Given the description of an element on the screen output the (x, y) to click on. 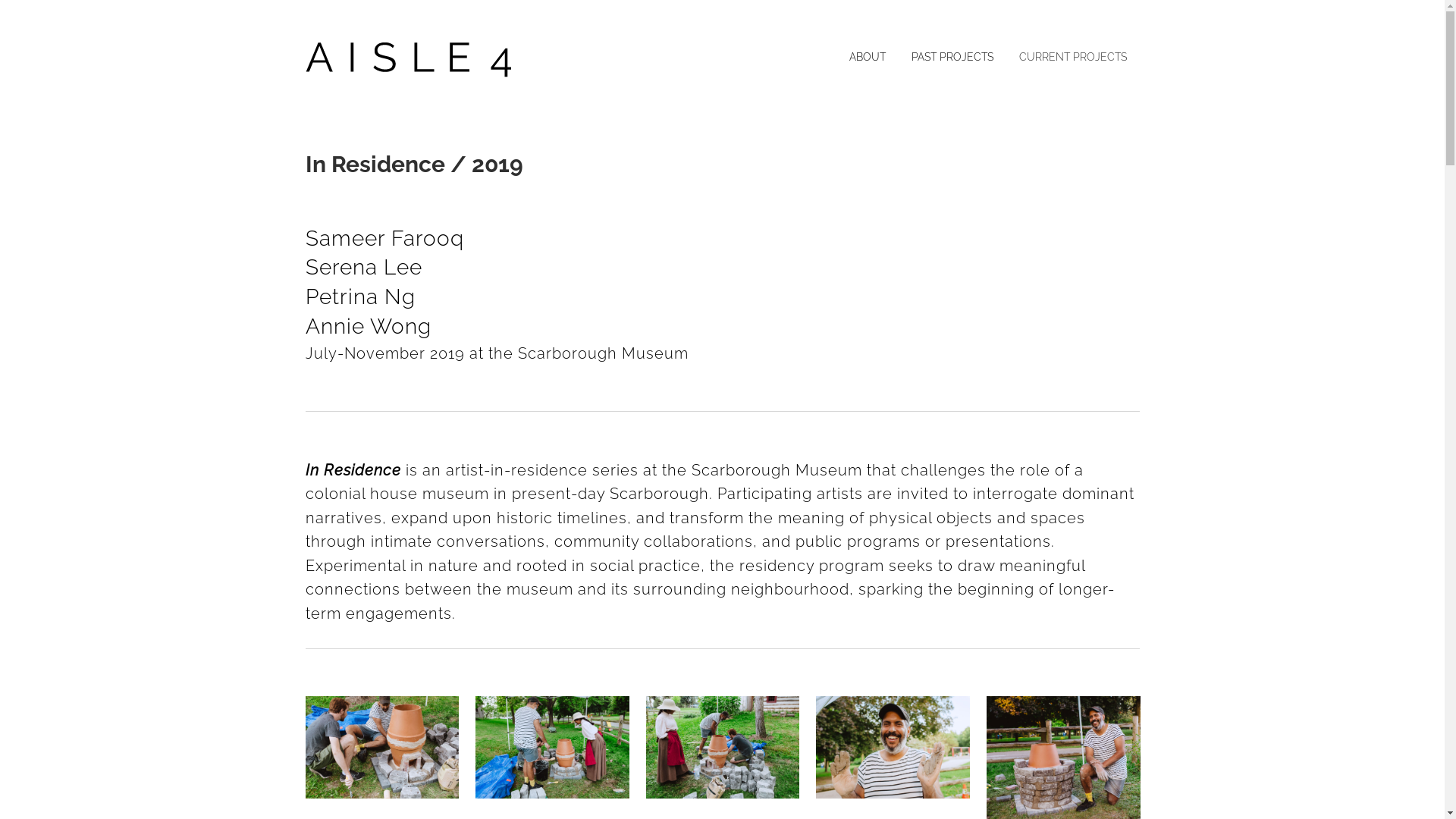
CURRENT PROJECTS Element type: text (1072, 56)
PAST PROJECTS Element type: text (951, 56)
ABOUT Element type: text (866, 56)
